Given the description of an element on the screen output the (x, y) to click on. 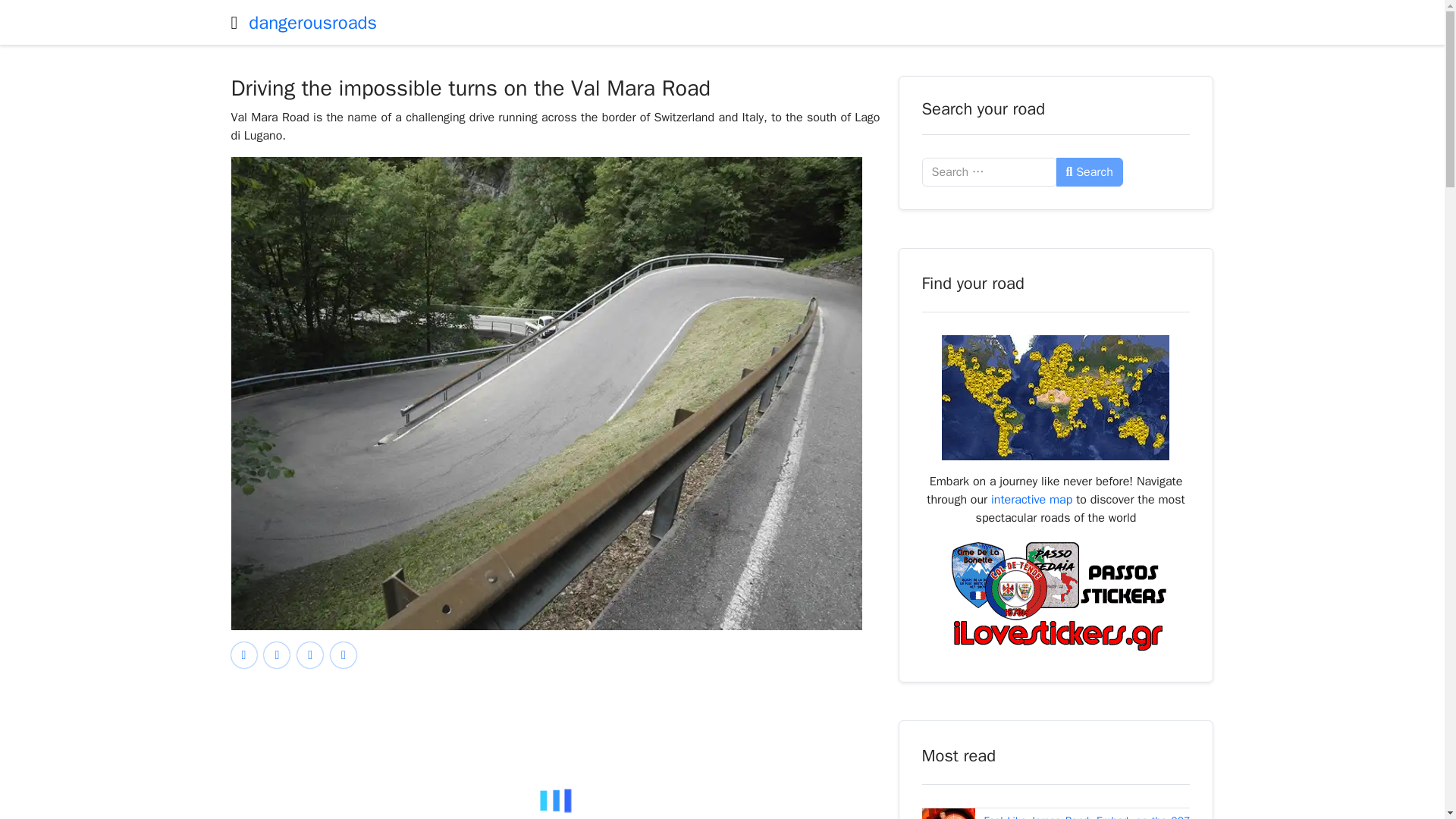
I Love Stickers (1055, 595)
Search (1088, 172)
dangerousroads (312, 22)
Find Your Road (1055, 396)
interactive map (1031, 499)
